Given the description of an element on the screen output the (x, y) to click on. 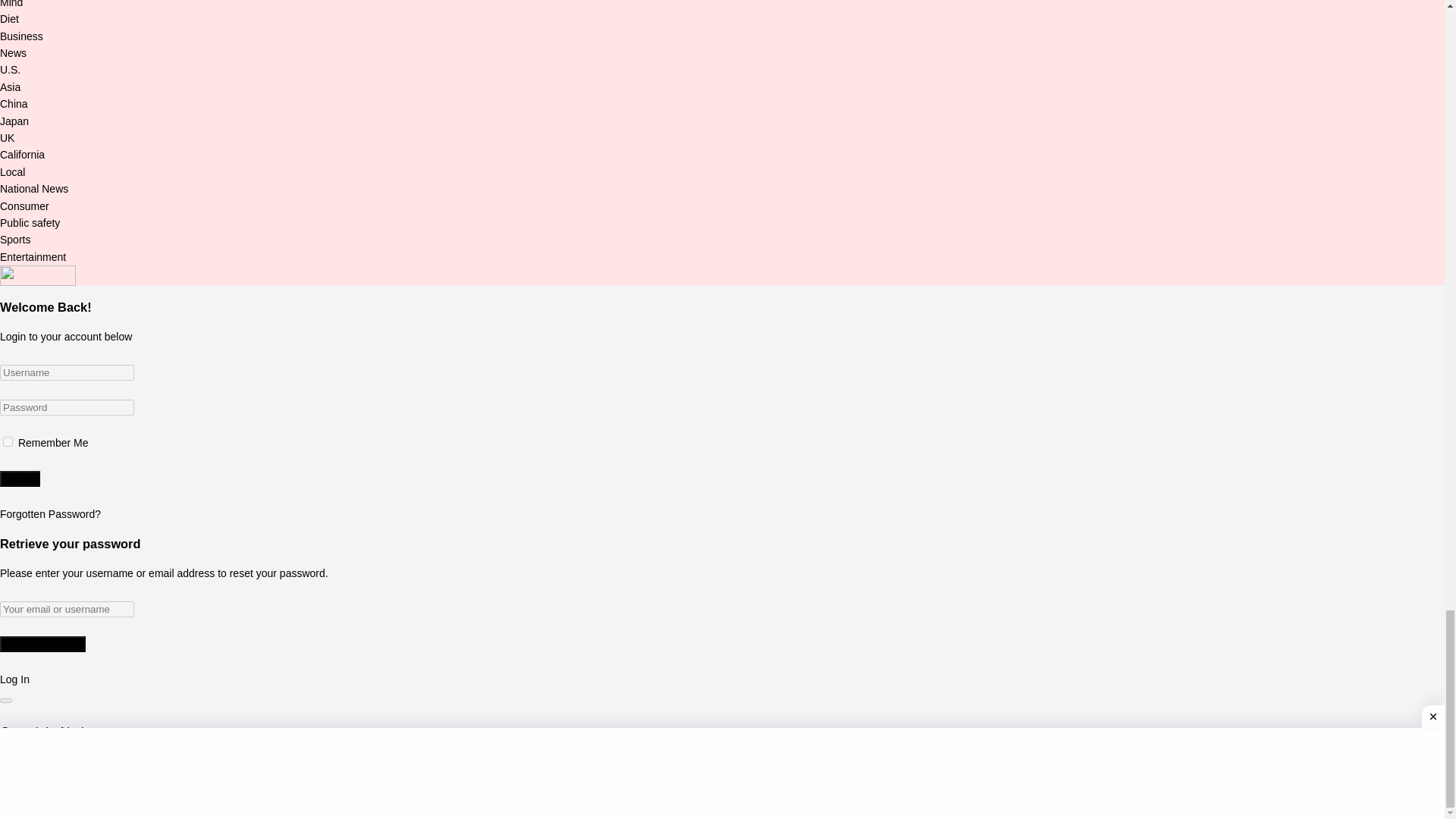
true (7, 441)
Log In (20, 478)
Reset Password (42, 643)
